Given the description of an element on the screen output the (x, y) to click on. 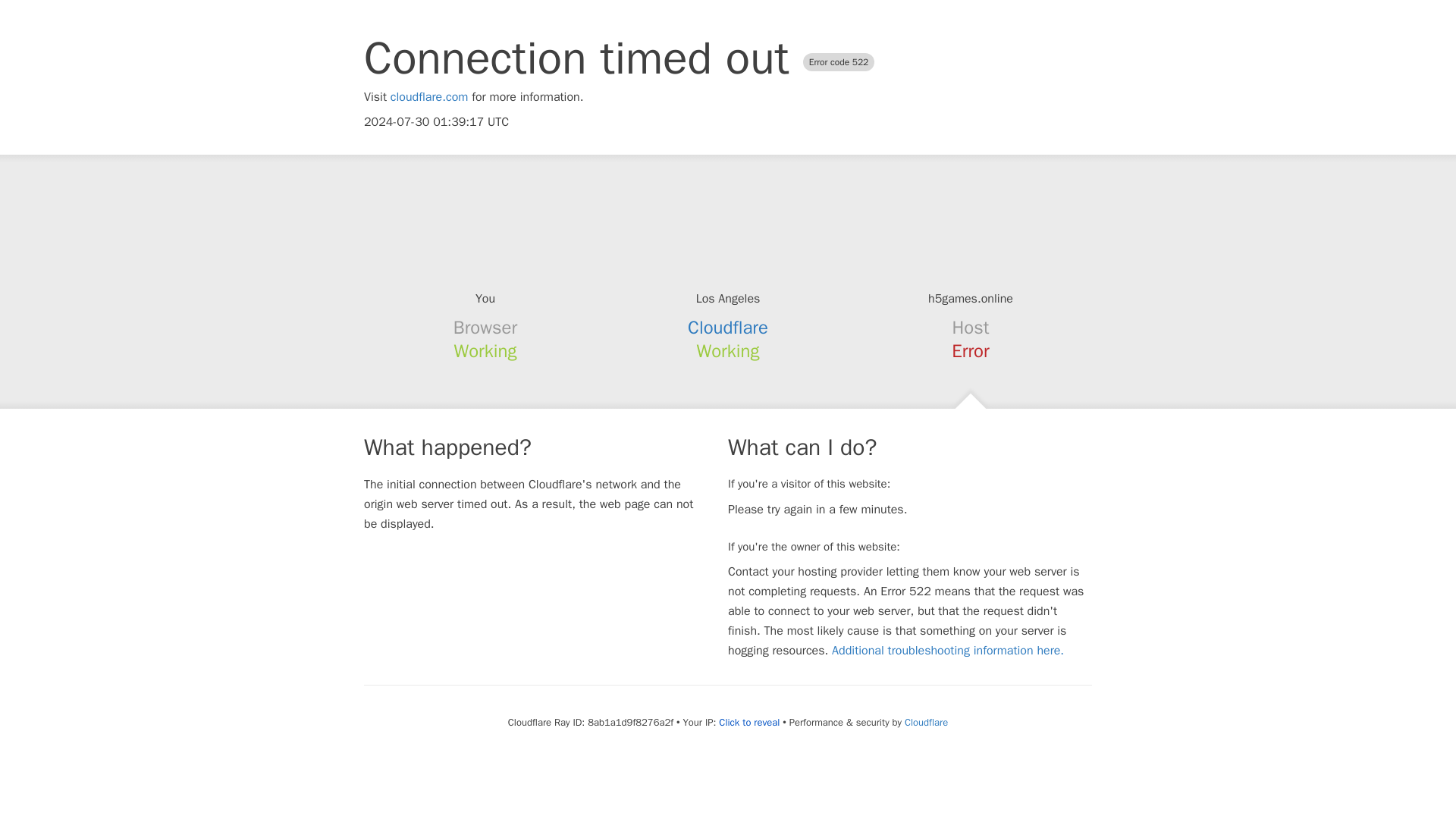
Click to reveal (748, 722)
cloudflare.com (429, 96)
Additional troubleshooting information here. (947, 650)
Cloudflare (727, 327)
Cloudflare (925, 721)
